Given the description of an element on the screen output the (x, y) to click on. 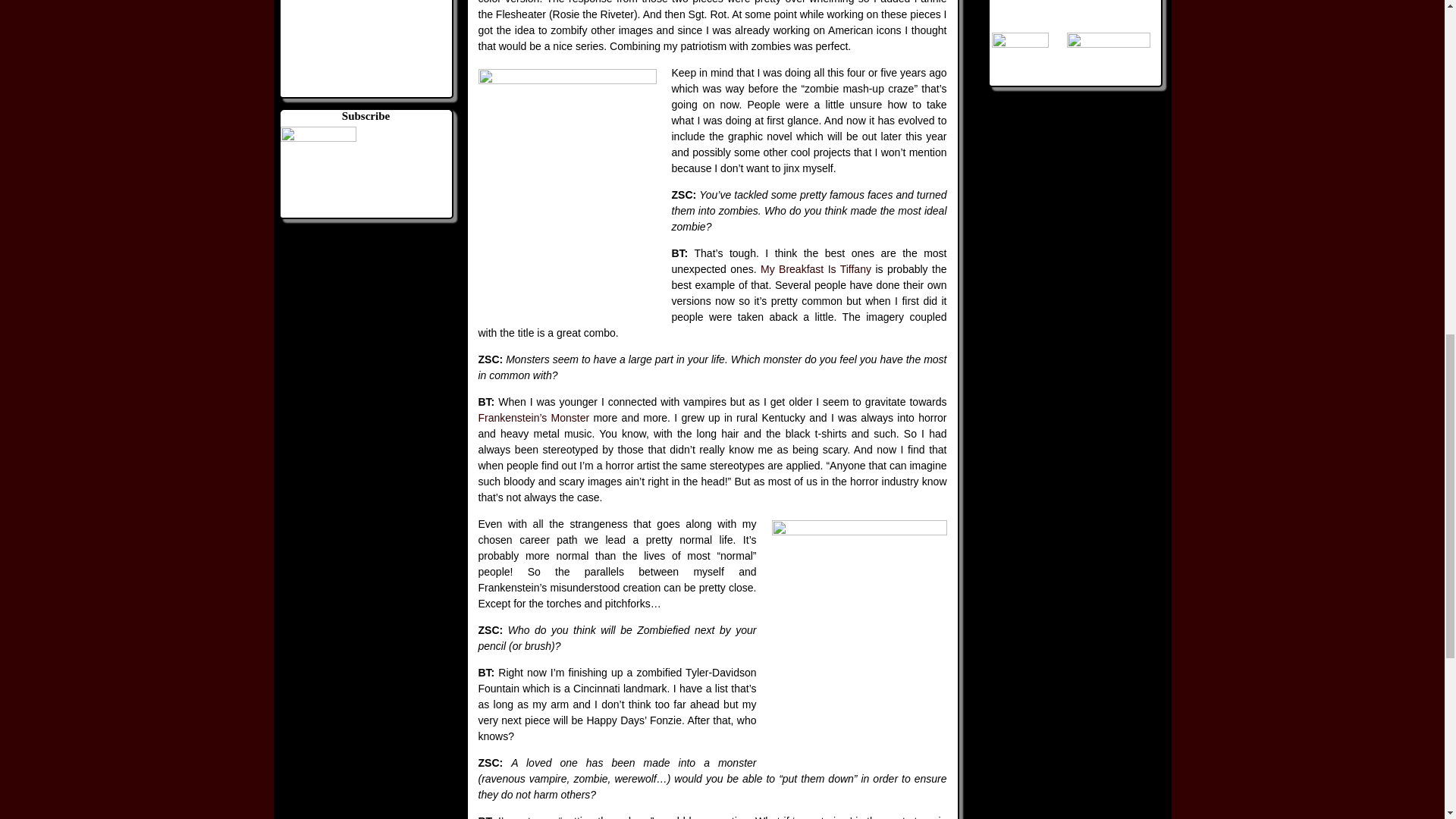
RedCrossRedCrescent (1019, 49)
Oxfam1 (1010, 4)
Medecins-Sans-Frontieres-Logo (1110, 4)
WSPA (1107, 49)
